Given the description of an element on the screen output the (x, y) to click on. 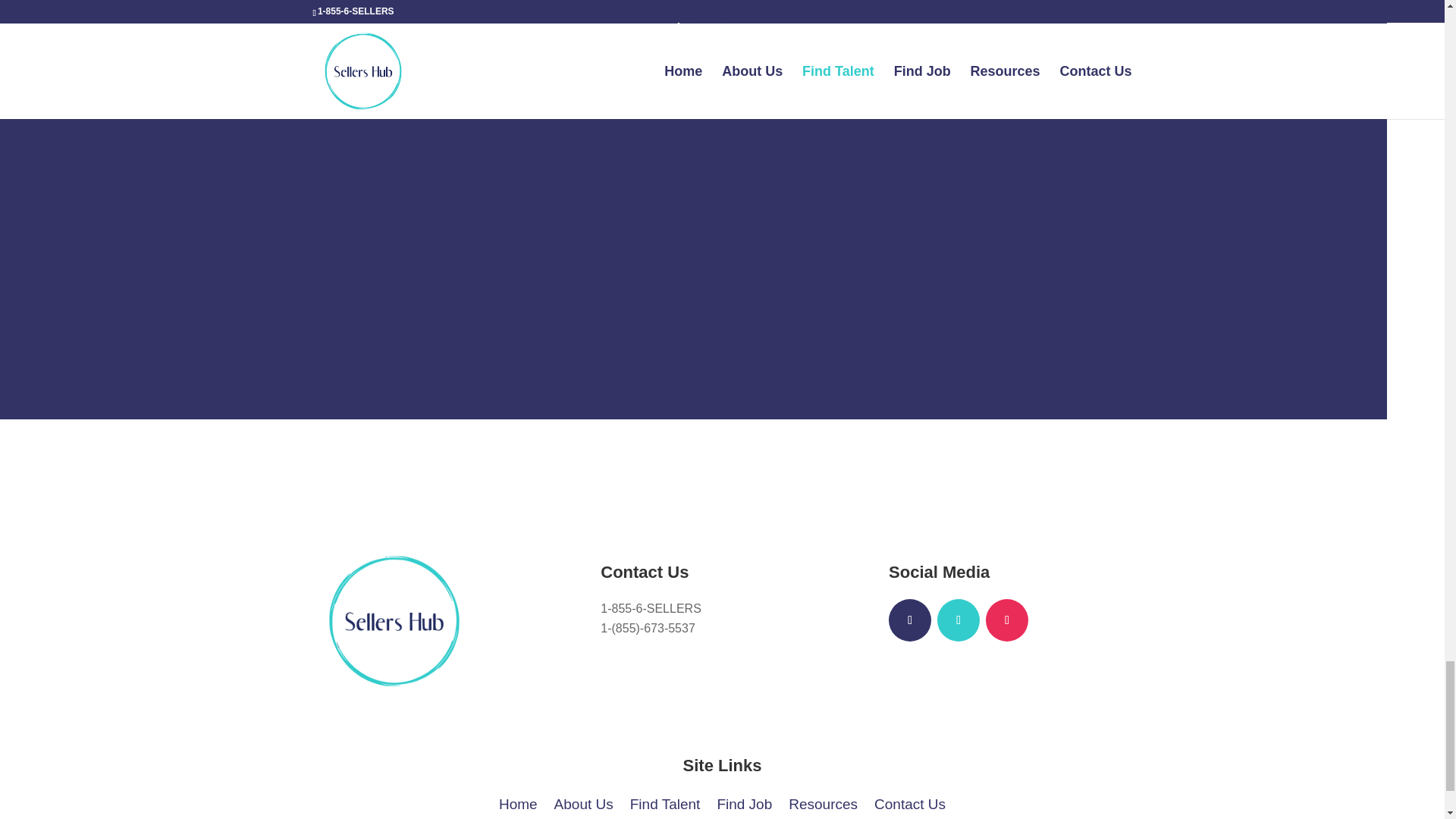
About Us (583, 801)
Find Job (743, 801)
Follow on Facebook (909, 619)
Find Talent (665, 801)
1 (674, 101)
Follow on Instagram (1006, 619)
Home (518, 801)
sh (394, 620)
Resources (823, 801)
Follow on LinkedIn (958, 619)
Contact Us (909, 801)
